Given the description of an element on the screen output the (x, y) to click on. 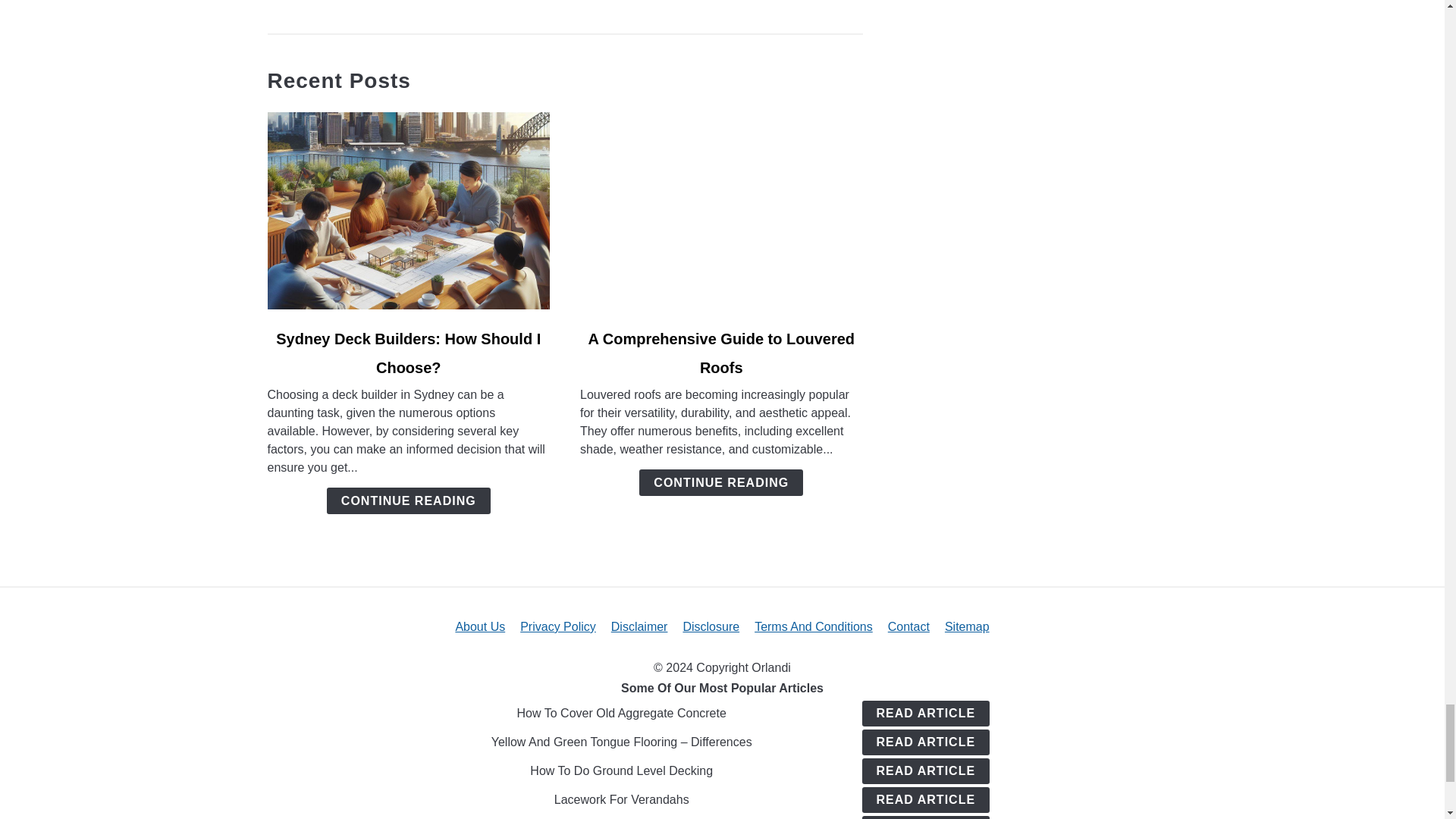
Terms And Conditions (813, 626)
Privacy Policy (557, 626)
link to A Comprehensive Guide to Louvered Roofs (721, 210)
READ ARTICLE (925, 712)
Disclaimer (639, 626)
Sitemap (967, 626)
Disclosure (710, 626)
Sydney Deck Builders: How Should I Choose? (408, 352)
CONTINUE READING (408, 500)
CONTINUE READING (721, 482)
About Us (479, 626)
link to Sydney Deck Builders: How Should I Choose? (408, 210)
A Comprehensive Guide to Louvered Roofs (721, 352)
Contact (909, 626)
